Given the description of an element on the screen output the (x, y) to click on. 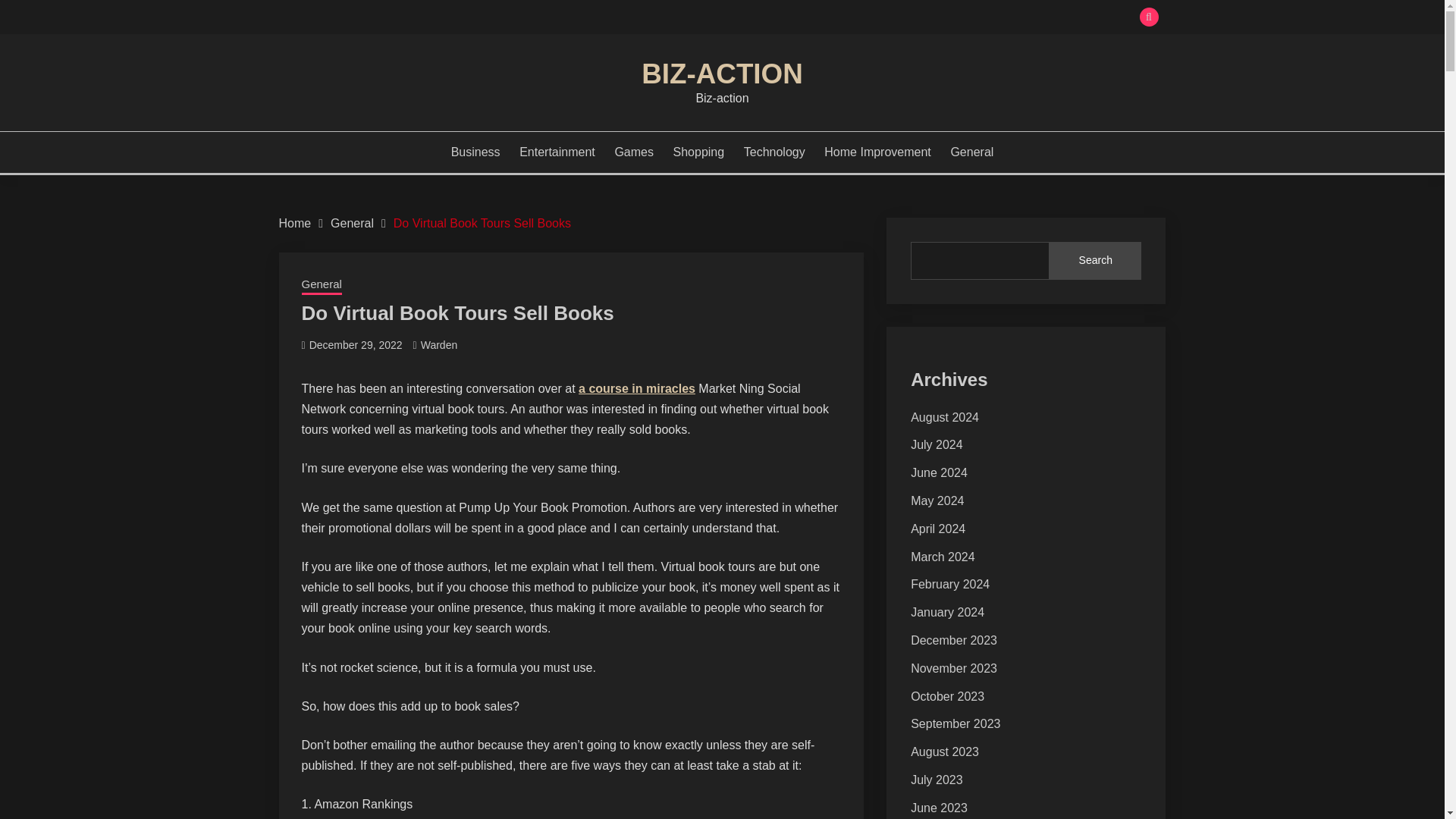
General (321, 285)
Search (1095, 260)
August 2024 (944, 417)
Search (832, 18)
Entertainment (557, 152)
Business (475, 152)
Home Improvement (877, 152)
Games (633, 152)
June 2024 (939, 472)
July 2024 (936, 444)
Shopping (698, 152)
a course in miracles (636, 388)
May 2024 (937, 500)
April 2024 (938, 528)
Do Virtual Book Tours Sell Books (481, 223)
